Given the description of an element on the screen output the (x, y) to click on. 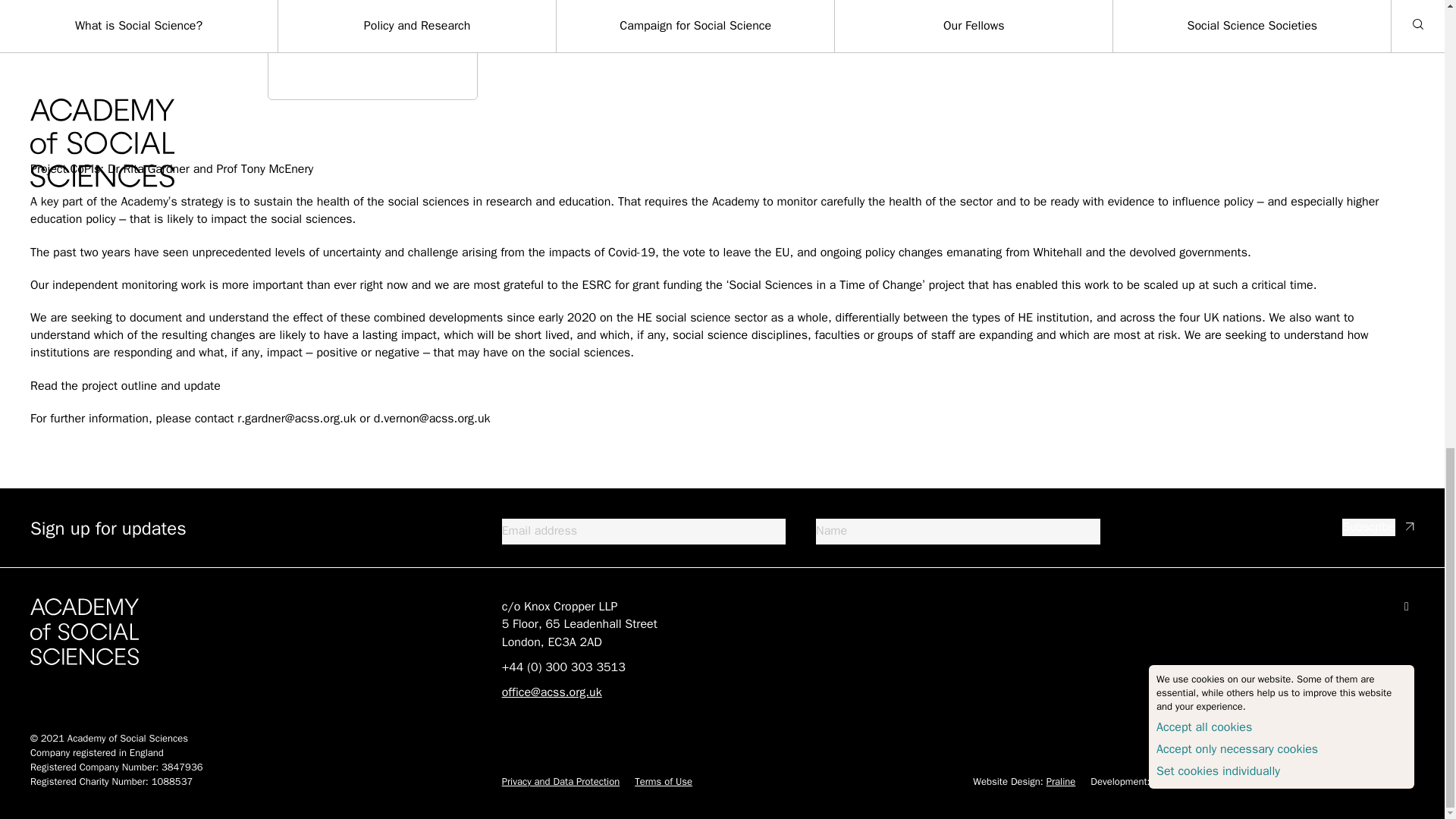
Subscribe (1368, 527)
